Given the description of an element on the screen output the (x, y) to click on. 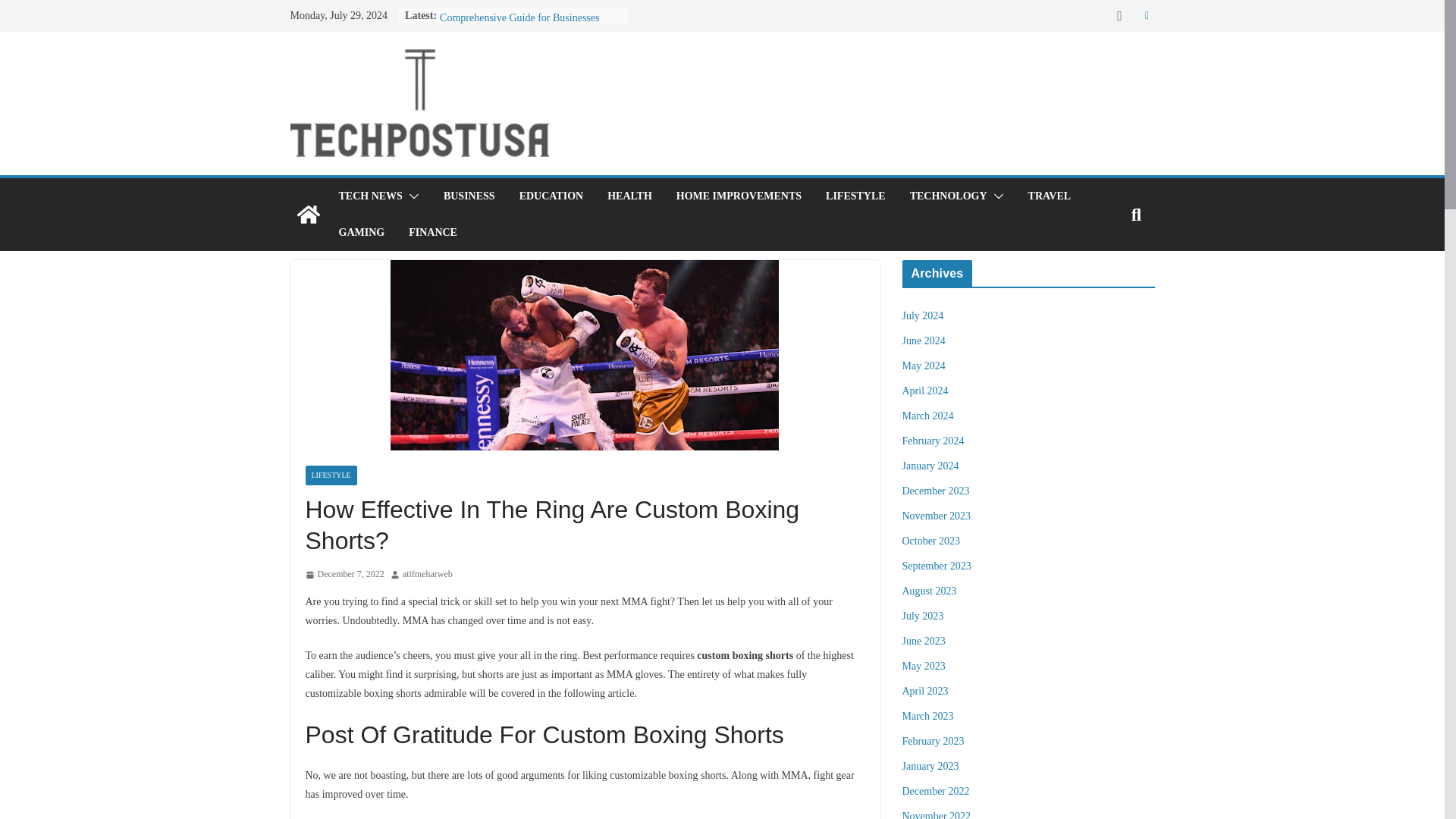
Tech Post Usa (307, 214)
LIFESTYLE (330, 475)
atifmeharweb (427, 574)
TECH NEWS (369, 196)
December 7, 2022 (344, 574)
HOME IMPROVEMENTS (739, 196)
BUSINESS (469, 196)
TECHNOLOGY (948, 196)
atifmeharweb (427, 574)
TRAVEL (1049, 196)
GAMING (360, 232)
LIFESTYLE (855, 196)
HEALTH (629, 196)
7:36 PM (344, 574)
